Given the description of an element on the screen output the (x, y) to click on. 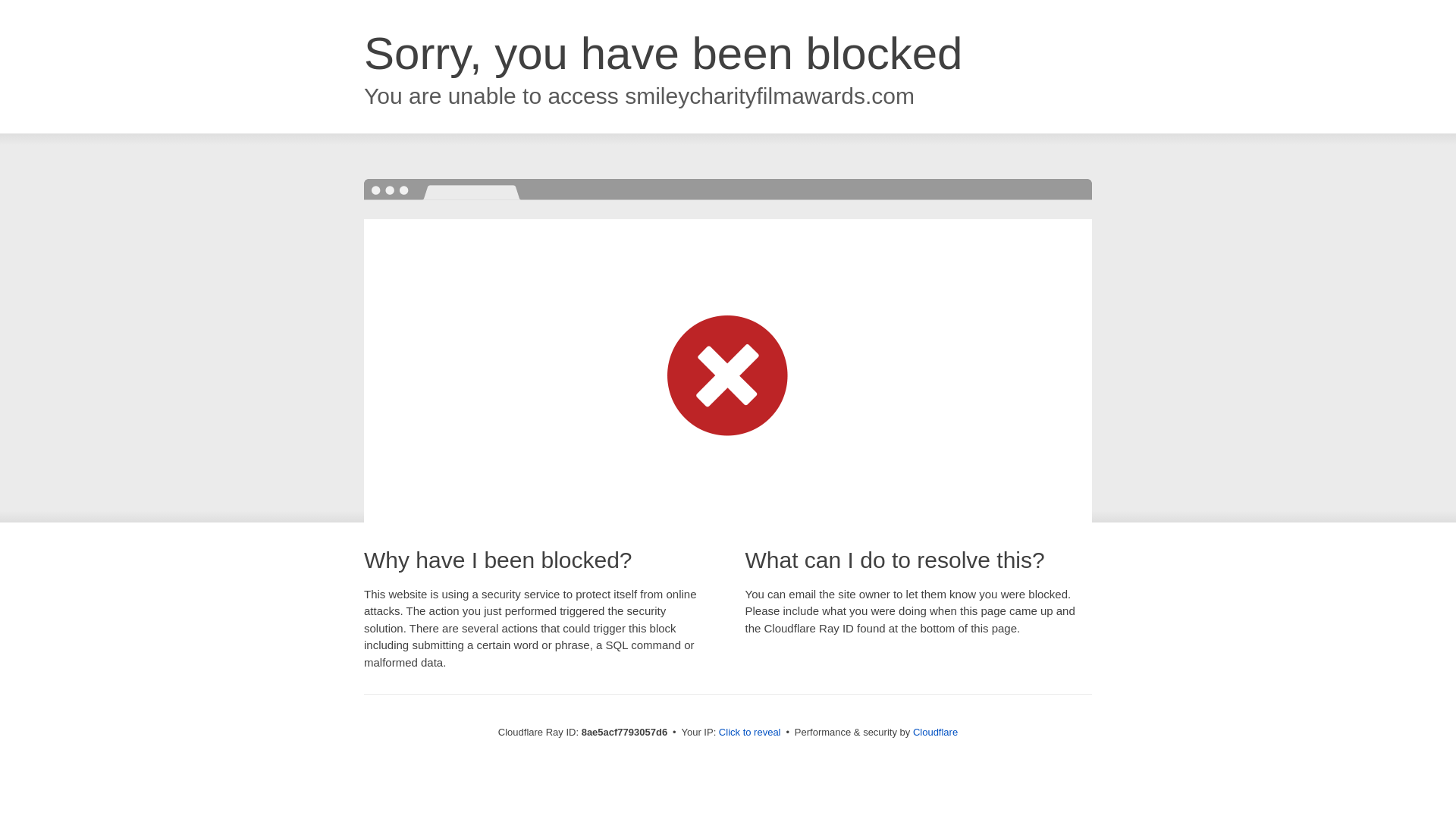
Cloudflare (935, 731)
Click to reveal (749, 732)
